Given the description of an element on the screen output the (x, y) to click on. 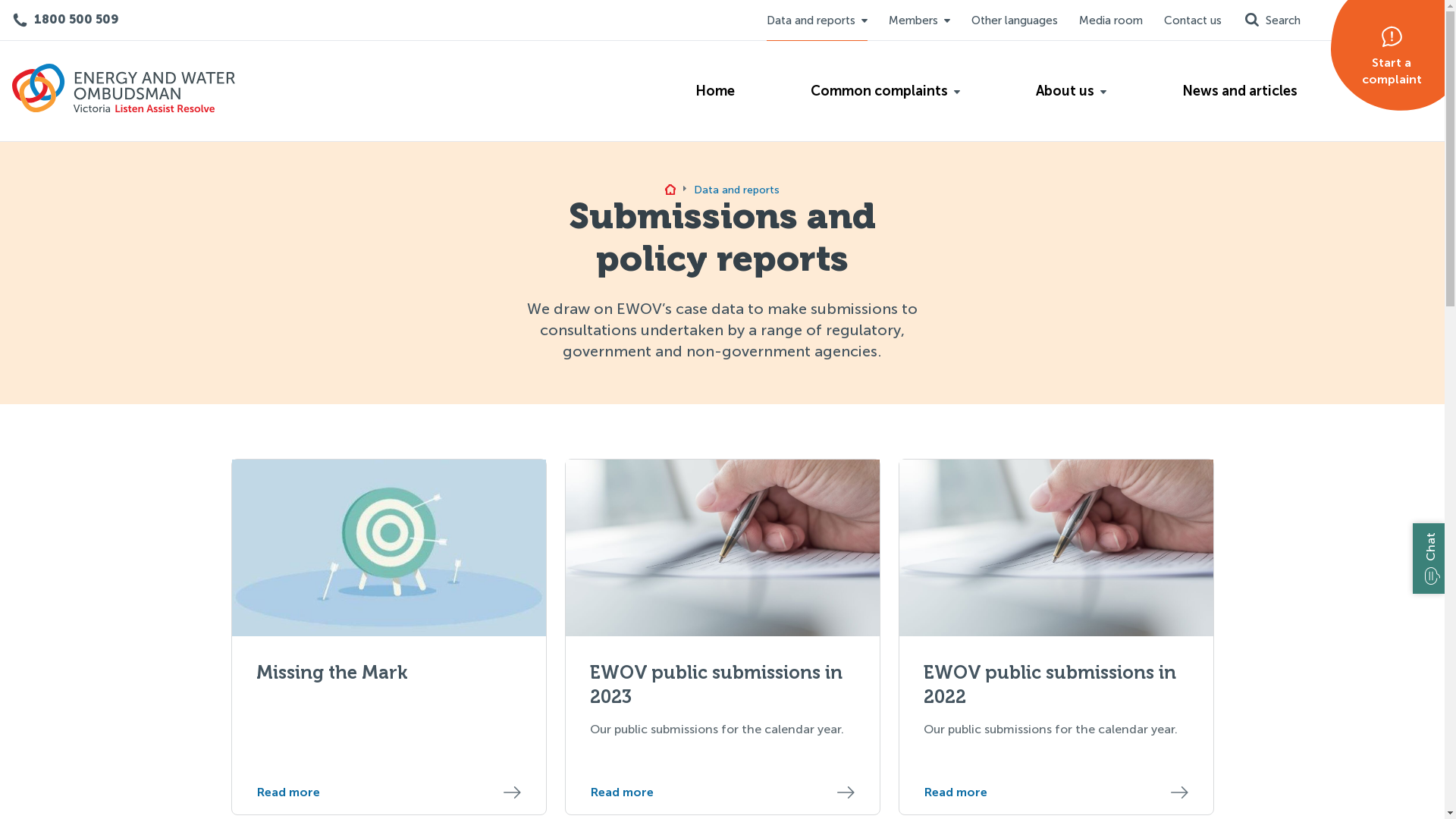
Other languages Element type: text (1014, 20)
Common complaints Element type: text (885, 91)
Read more Element type: text (722, 792)
About us Element type: text (1071, 91)
1800 500 509 Element type: text (65, 20)
Search Element type: text (1270, 19)
Members Element type: text (919, 20)
News and articles Element type: text (1239, 91)
Media room Element type: text (1110, 20)
Read more Element type: text (1056, 792)
Home Element type: text (714, 91)
Read more Element type: text (389, 792)
Contact us Element type: text (1192, 20)
Start a complaint Element type: text (1377, 62)
EWOV logo Element type: text (123, 93)
Data and reports Element type: text (736, 190)
Home Element type: text (670, 190)
Data and reports Element type: text (816, 20)
